Given the description of an element on the screen output the (x, y) to click on. 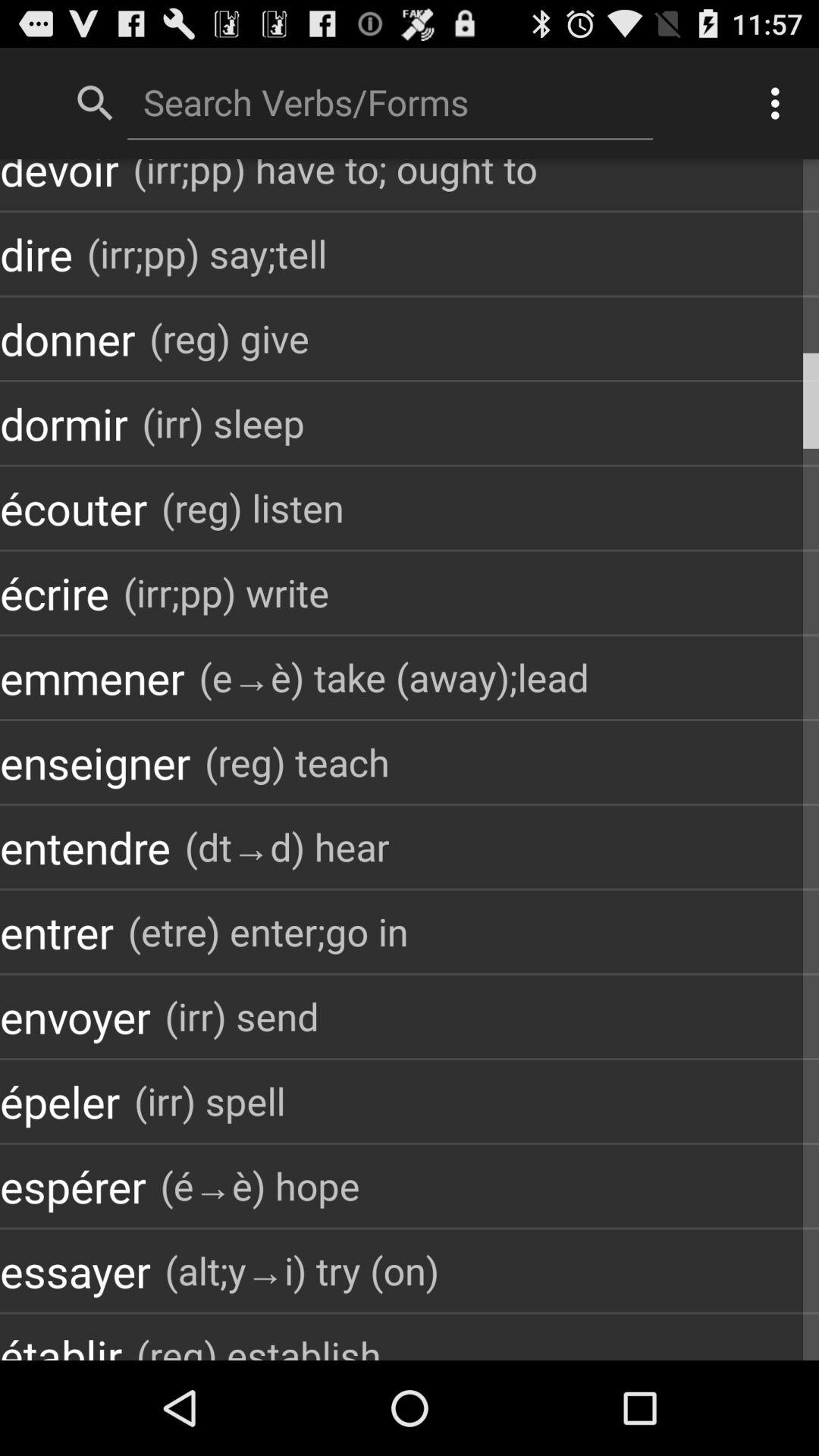
swipe to the (reg) teach item (296, 762)
